Given the description of an element on the screen output the (x, y) to click on. 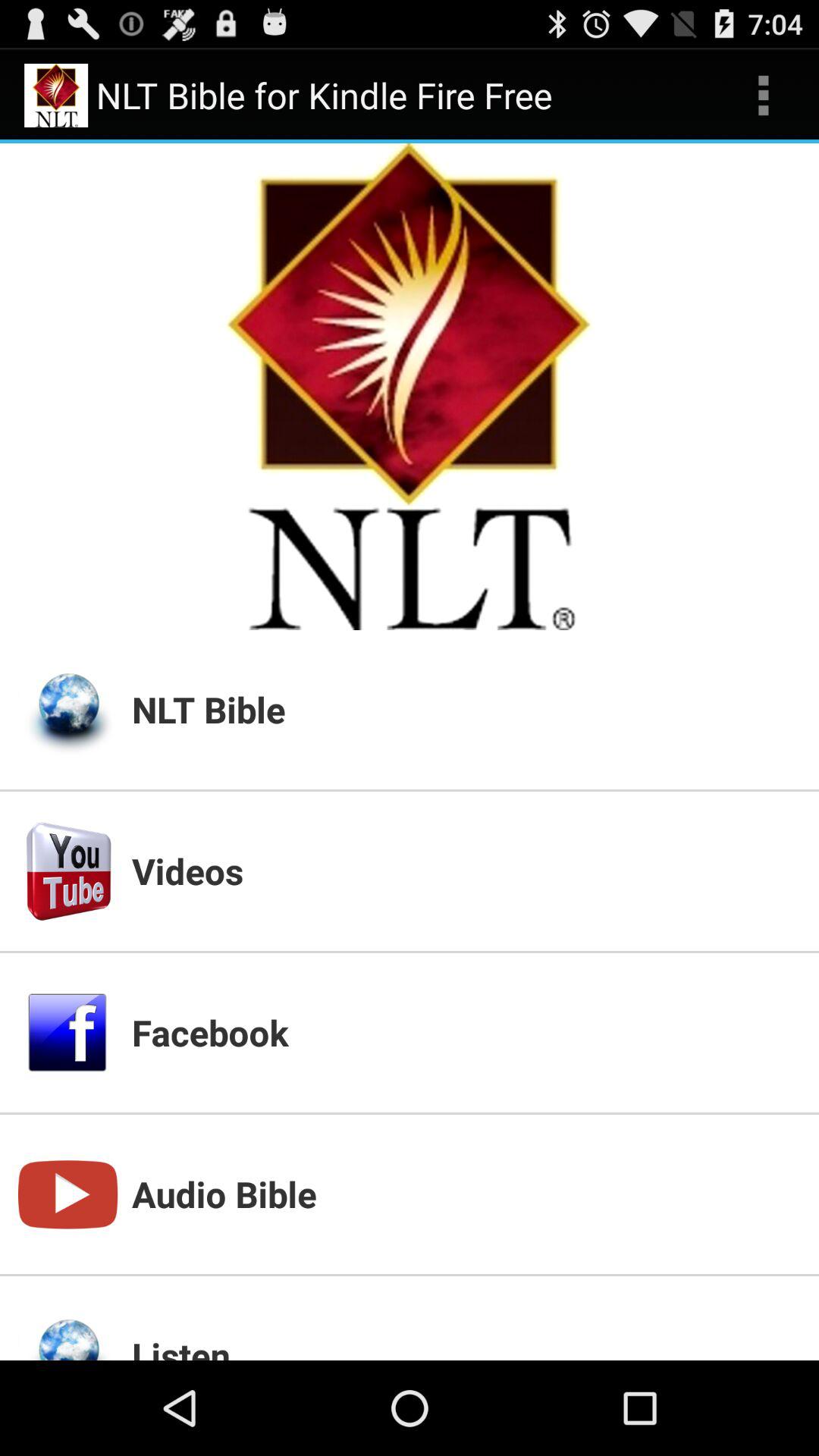
launch the audio bible item (465, 1193)
